Given the description of an element on the screen output the (x, y) to click on. 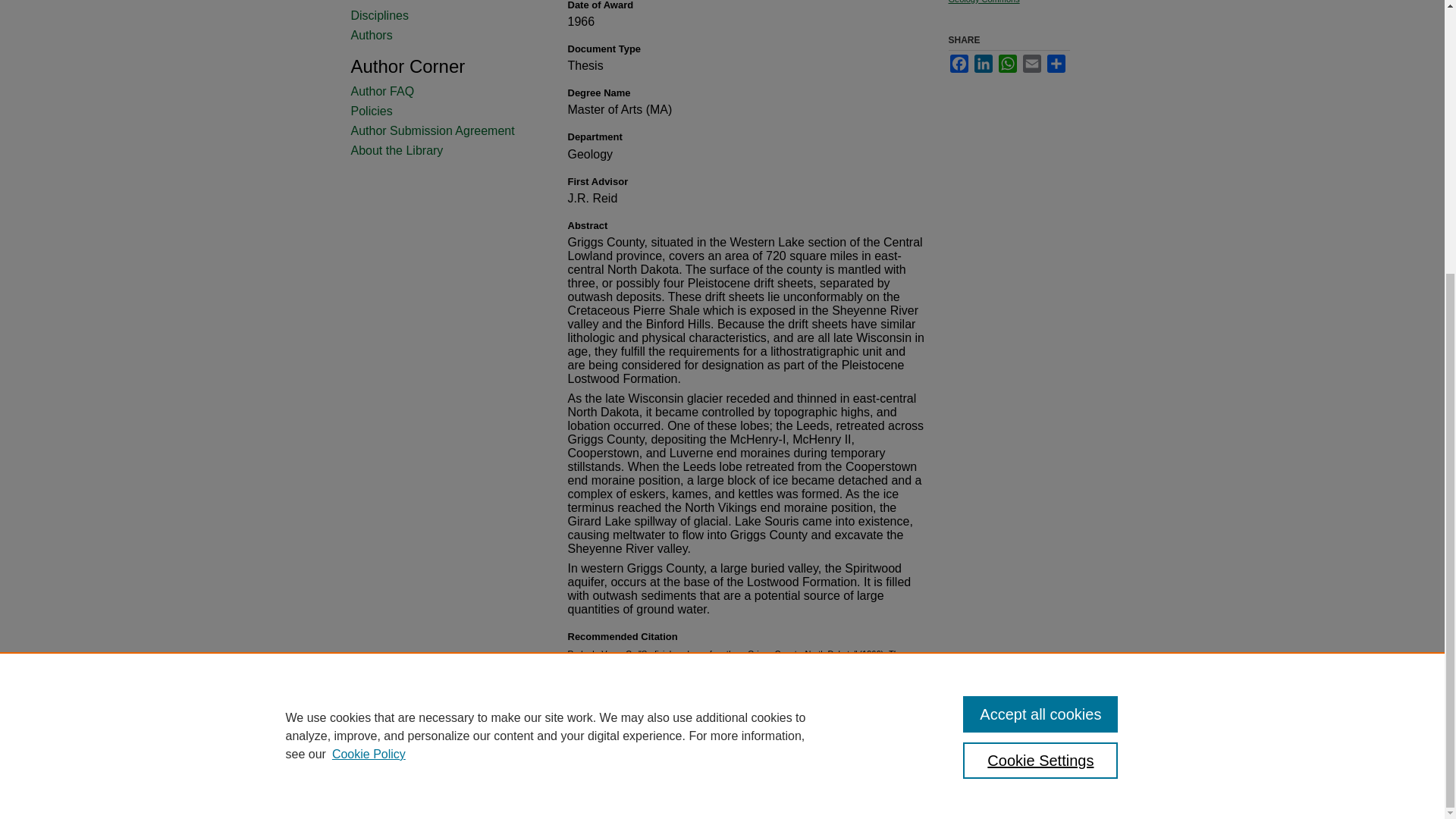
Share (1055, 63)
Email (1031, 63)
Policies (441, 110)
Author Submission Agreement (441, 131)
Geology Commons (983, 2)
Authors (441, 35)
Browse by Disciplines (441, 15)
Facebook (958, 63)
Browse by Collections (441, 1)
WhatsApp (1006, 63)
Disciplines (441, 15)
Geology Commons (983, 2)
LinkedIn (982, 63)
Collections (441, 1)
Author FAQ (441, 91)
